Given the description of an element on the screen output the (x, y) to click on. 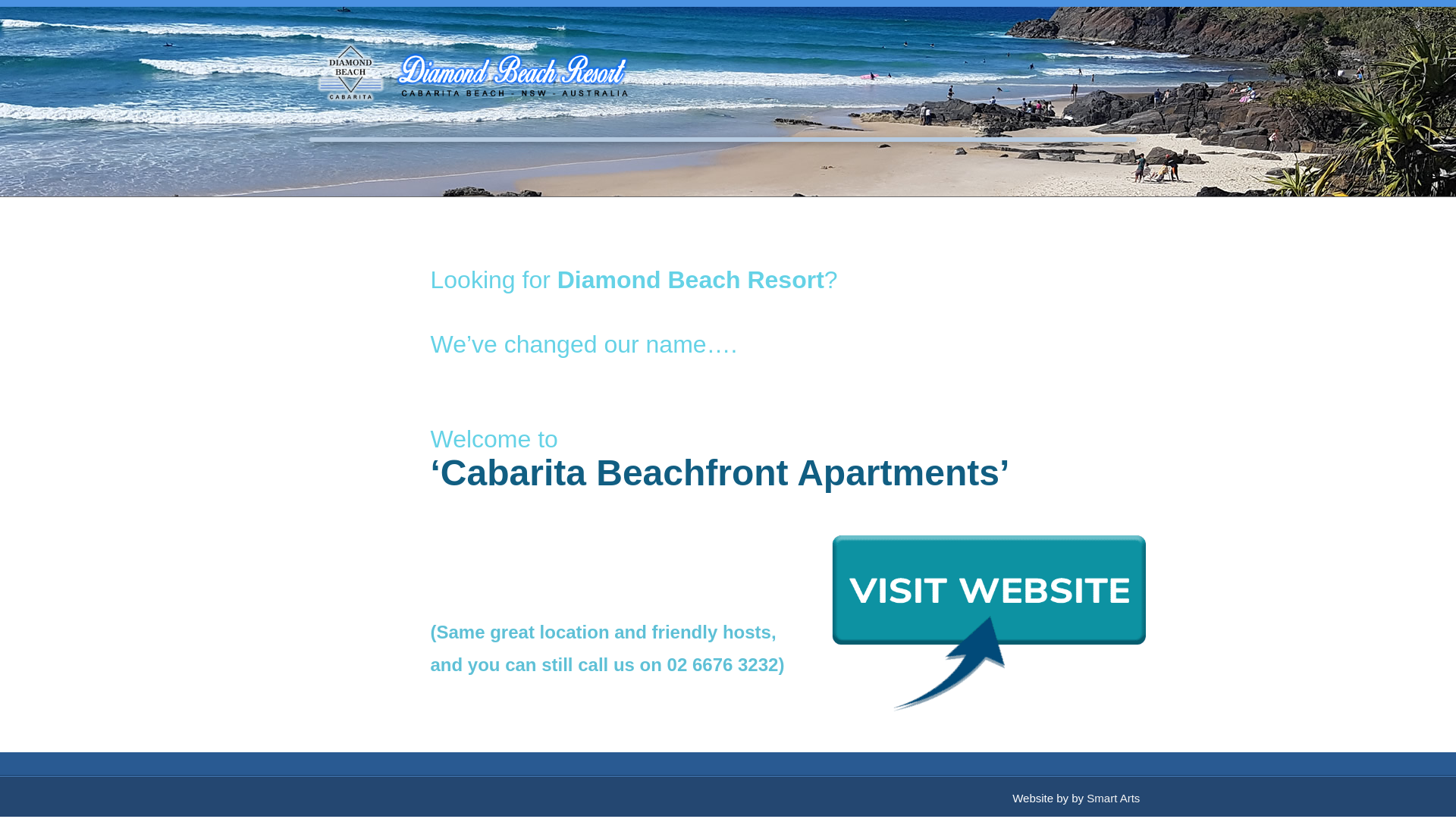
Smart Arts Element type: text (1112, 797)
